Given the description of an element on the screen output the (x, y) to click on. 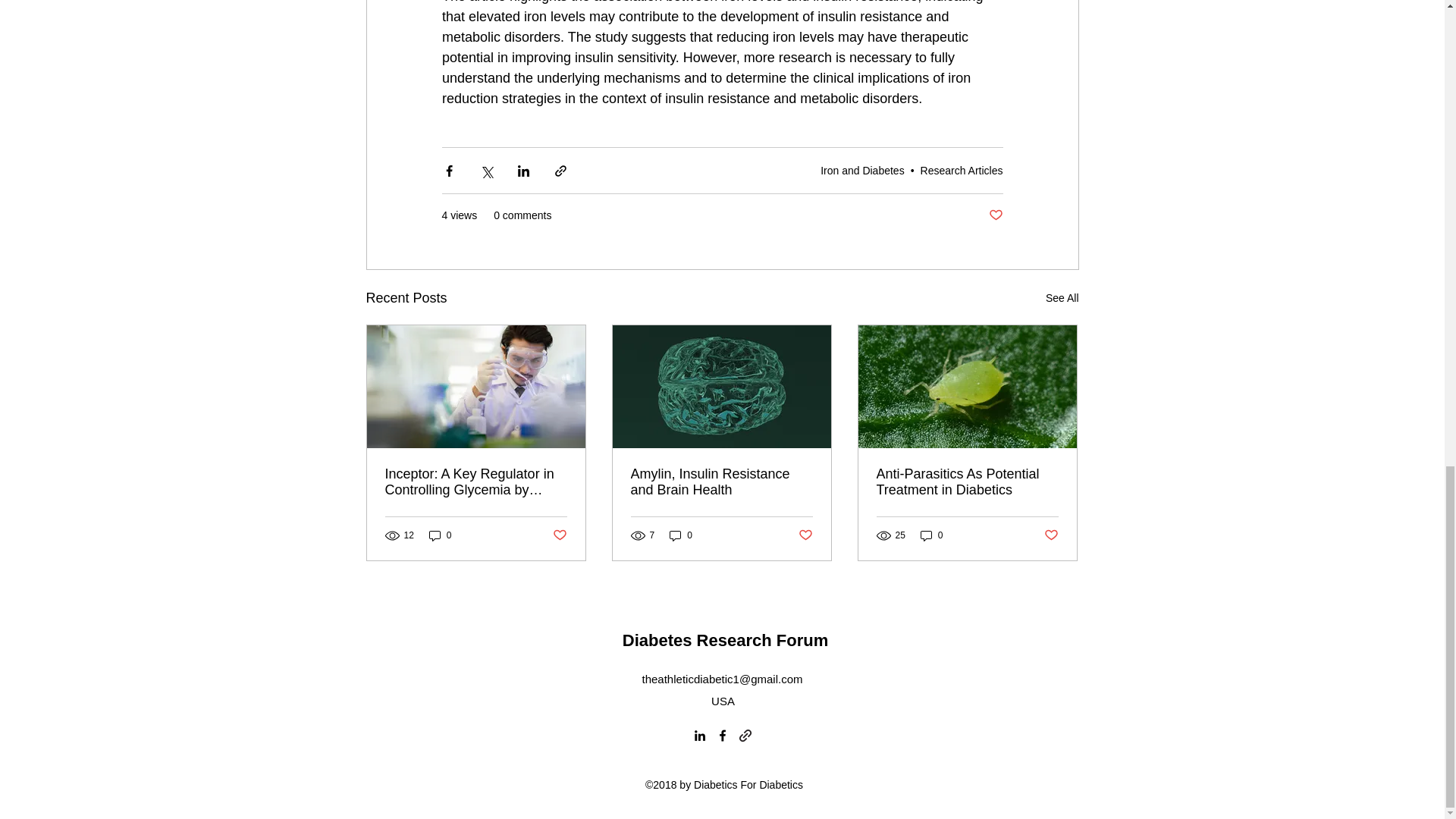
See All (1061, 298)
Post not marked as liked (995, 215)
0 (440, 535)
Research Articles (961, 170)
Post not marked as liked (558, 534)
Post not marked as liked (804, 534)
Amylin, Insulin Resistance and Brain Health (721, 481)
Iron and Diabetes (862, 170)
0 (681, 535)
